Given the description of an element on the screen output the (x, y) to click on. 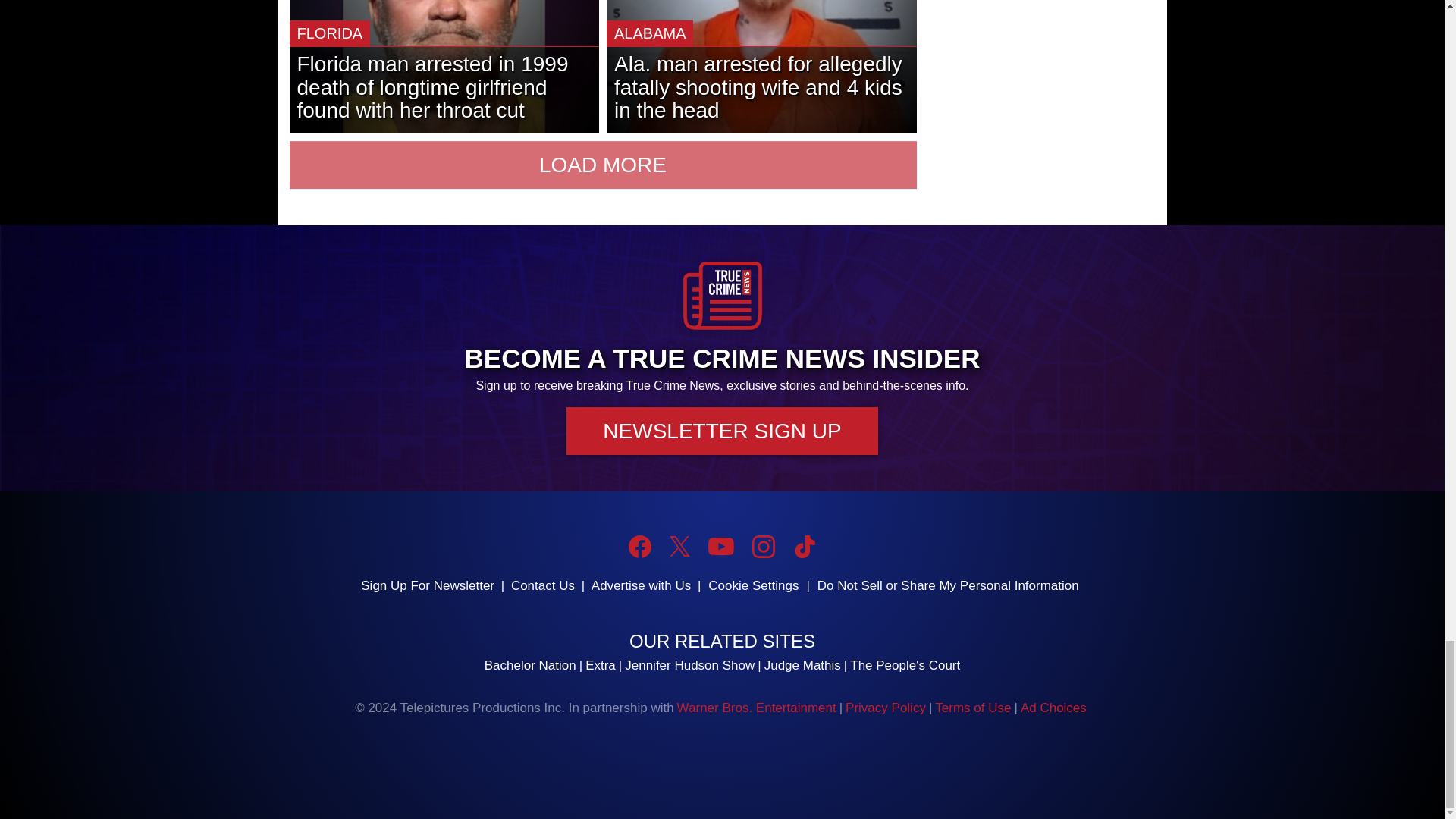
Instagram (763, 546)
Facebook (639, 546)
Twitter (679, 546)
TikTok (804, 546)
YouTube (720, 546)
